Given the description of an element on the screen output the (x, y) to click on. 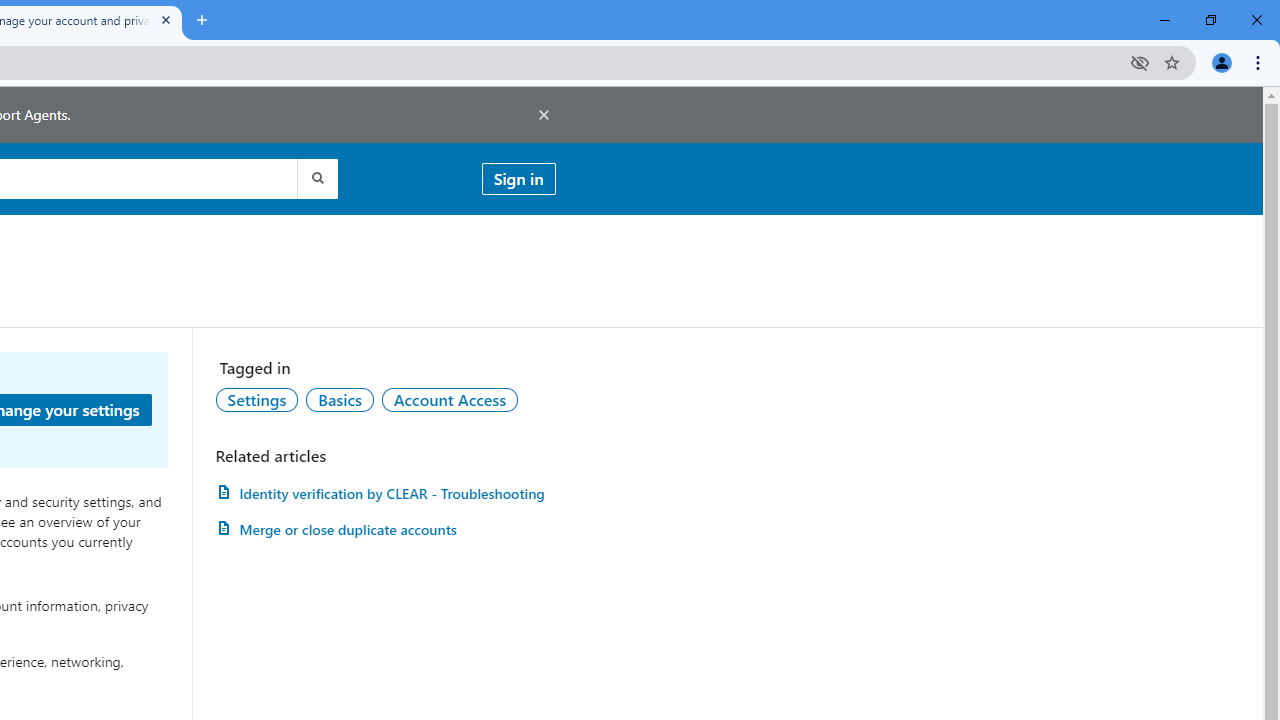
AutomationID: topic-link-a151002 (449, 399)
Submit search (316, 178)
AutomationID: topic-link-a51 (339, 399)
AutomationID: article-link-a1337200 (385, 529)
